Given the description of an element on the screen output the (x, y) to click on. 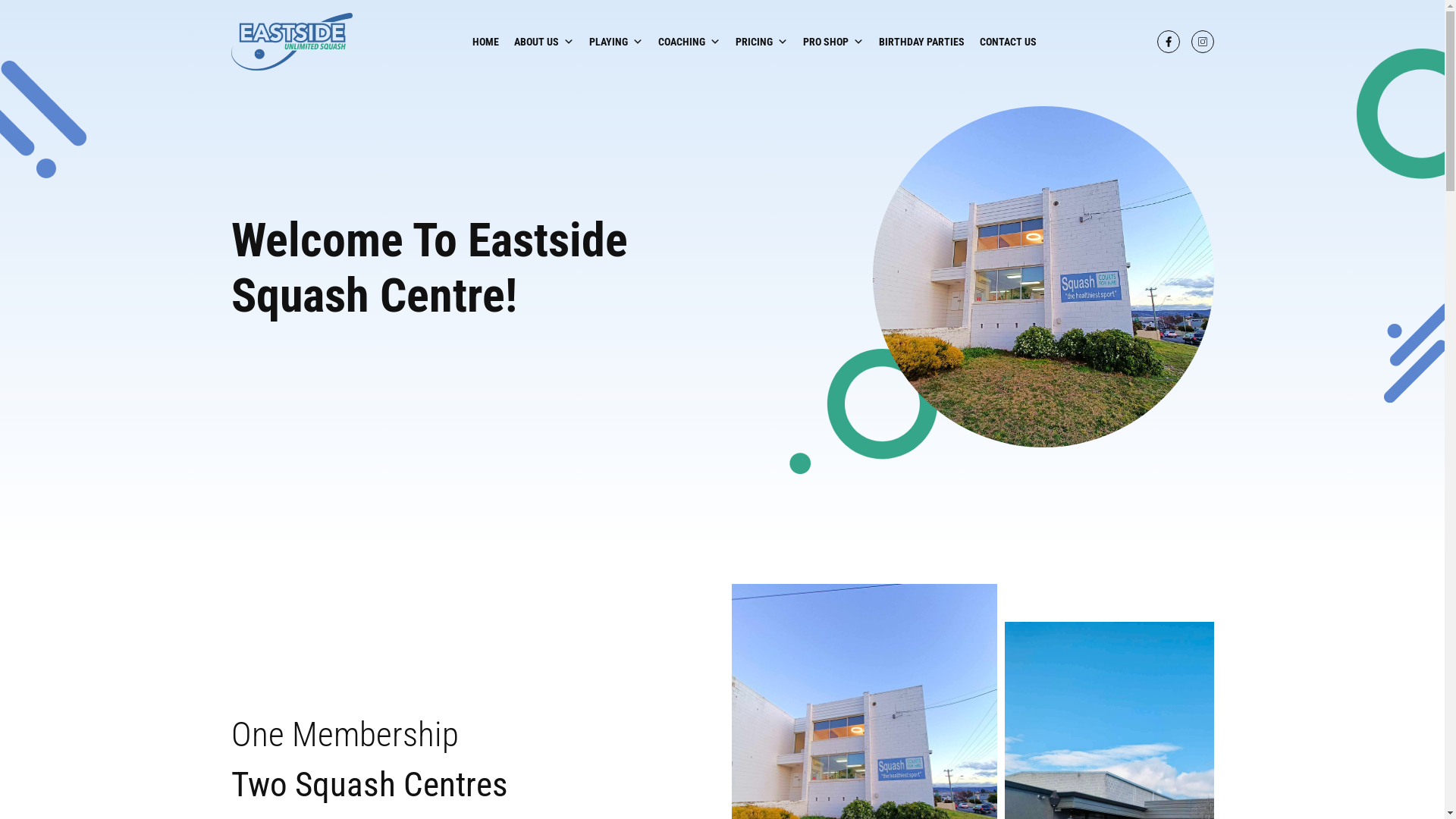
BIRTHDAY PARTIES Element type: text (921, 41)
PRO SHOP Element type: text (833, 41)
COACHING Element type: text (689, 41)
PRICING Element type: text (761, 41)
PLAYING Element type: text (615, 41)
ABOUT US Element type: text (543, 41)
HOME Element type: text (485, 41)
CONTACT US Element type: text (1008, 41)
